Given the description of an element on the screen output the (x, y) to click on. 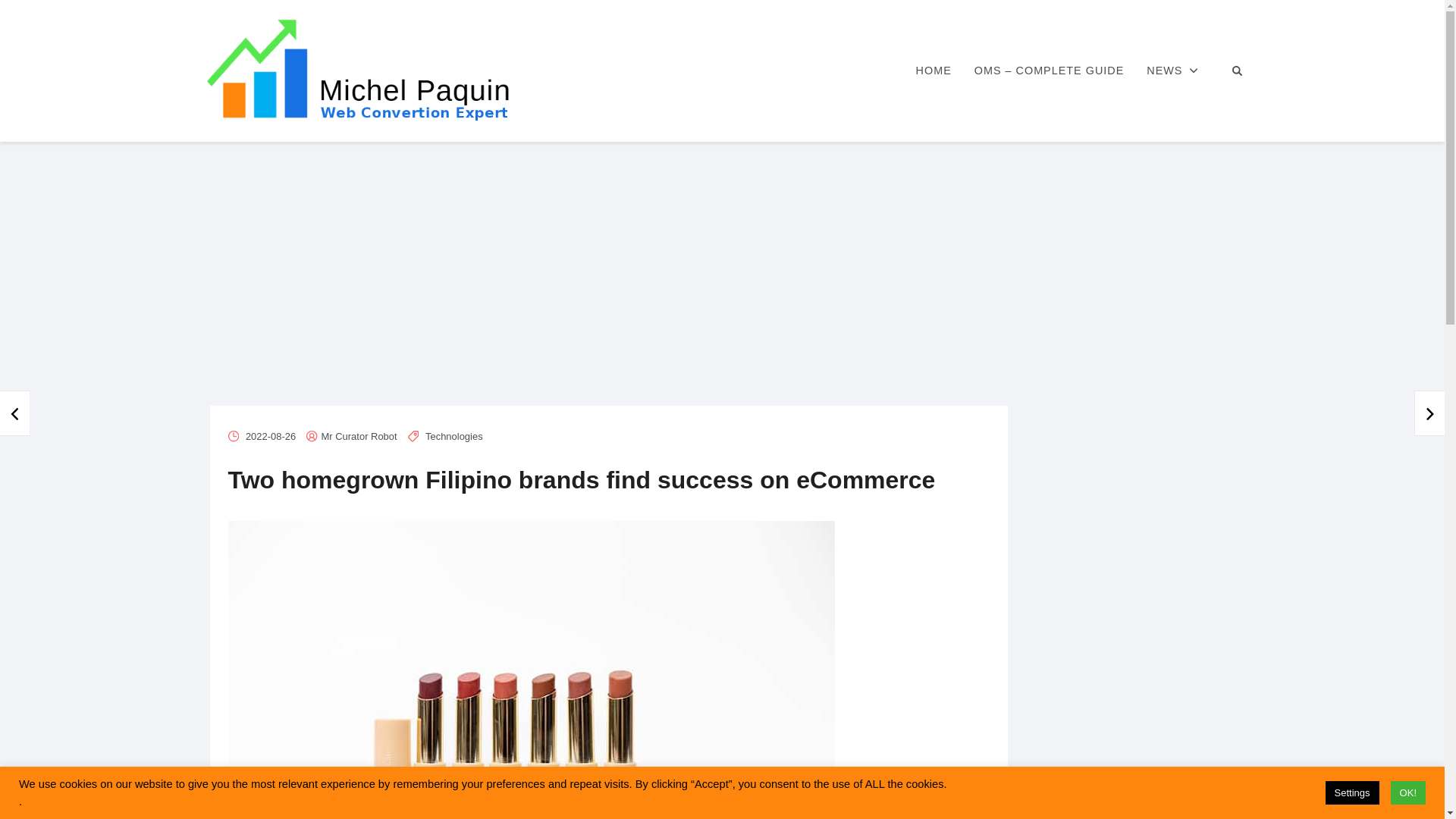
NEWS (1171, 70)
HOME (933, 70)
OK! (1407, 792)
Mr Curator Robot (359, 436)
Settings (1351, 792)
Technologies (454, 436)
2022-08-26 (270, 436)
